Given the description of an element on the screen output the (x, y) to click on. 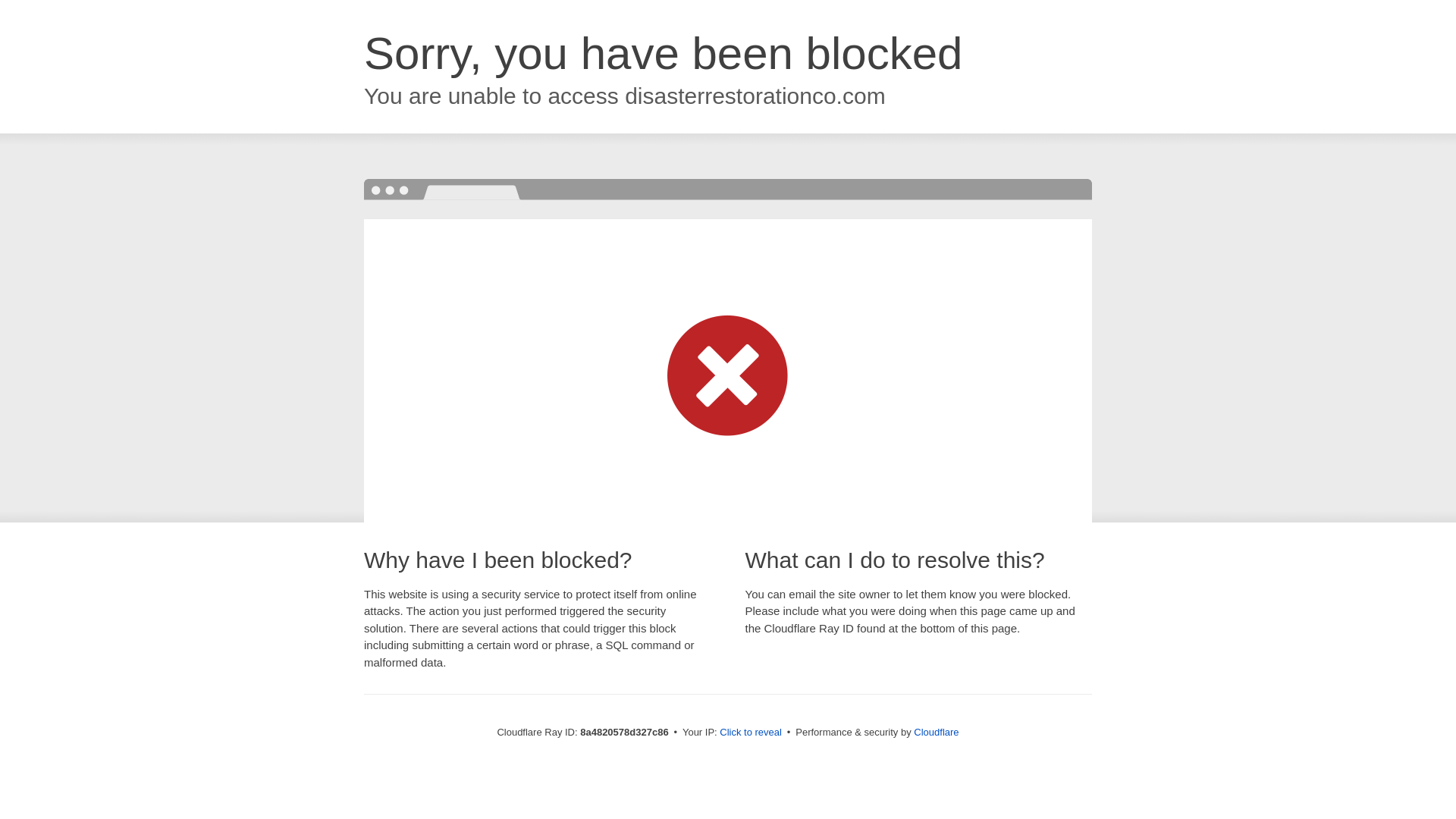
Click to reveal (750, 732)
Cloudflare (936, 731)
